Given the description of an element on the screen output the (x, y) to click on. 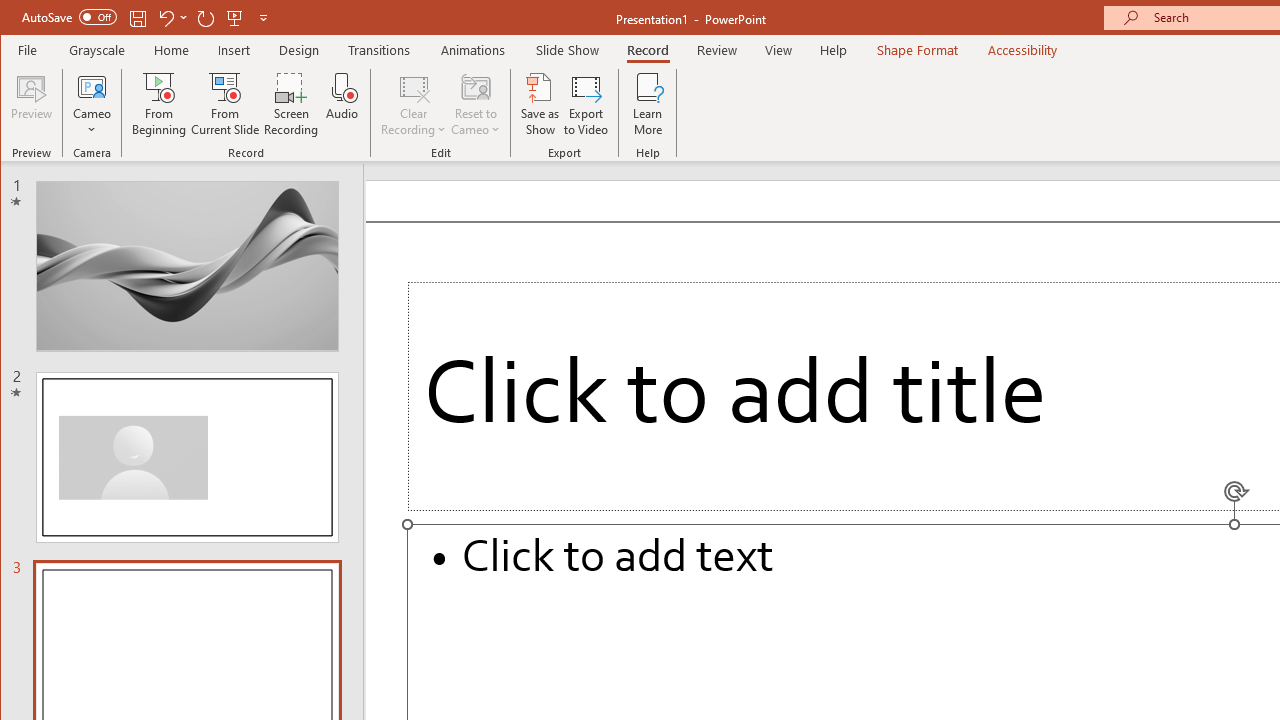
Export to Video (585, 104)
Screen Recording (291, 104)
Accessibility (1023, 50)
Cameo (91, 104)
Grayscale (97, 50)
